Given the description of an element on the screen output the (x, y) to click on. 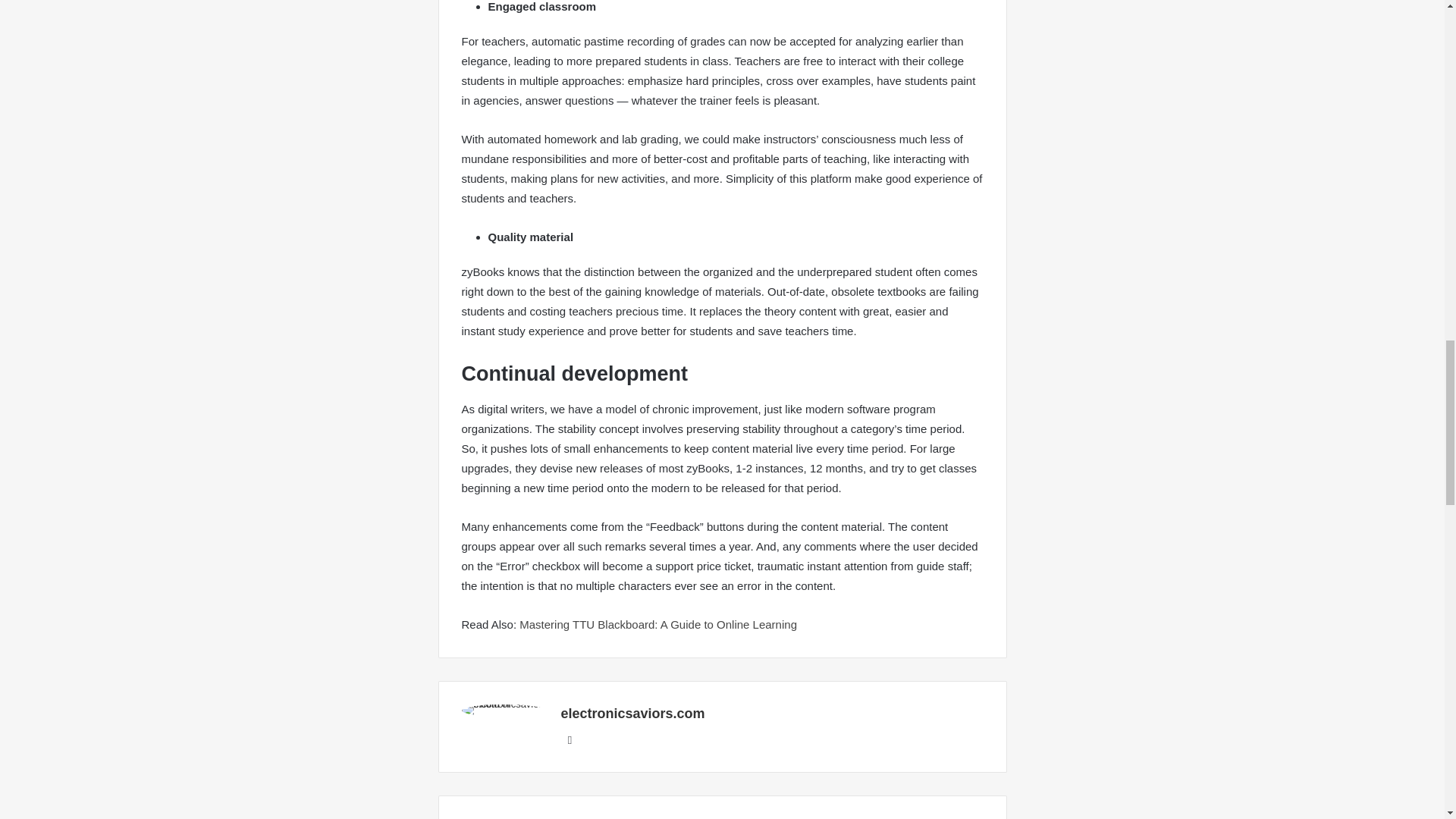
electronicsaviors.com (632, 713)
Mastering TTU Blackboard: A Guide to Online Learning (657, 624)
Website (569, 740)
